Given the description of an element on the screen output the (x, y) to click on. 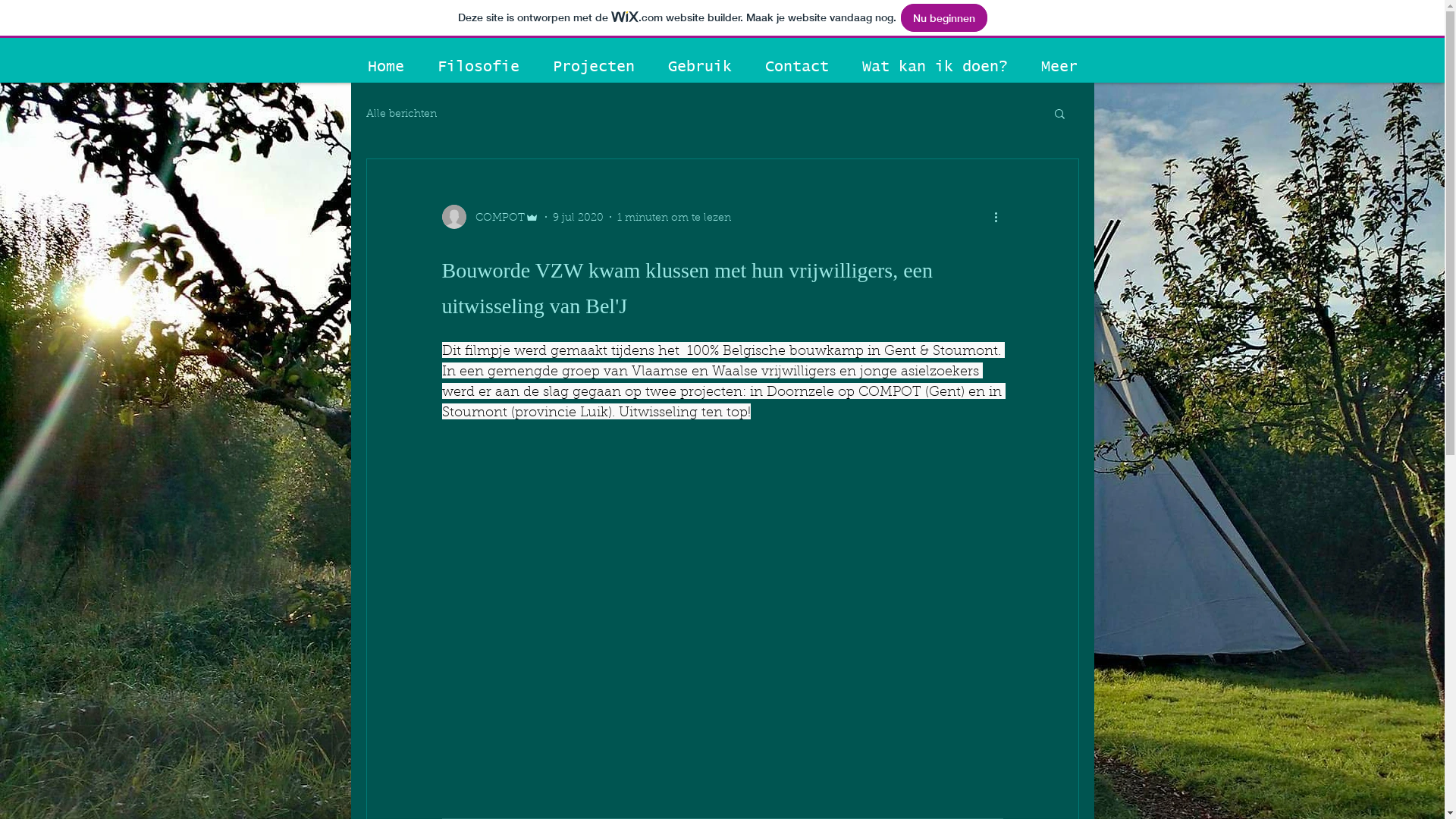
Projecten Element type: text (592, 66)
Home Element type: text (385, 66)
Alle berichten Element type: text (400, 112)
Wat kan ik doen? Element type: text (933, 66)
Gebruik Element type: text (698, 66)
COMPOT Element type: text (489, 216)
Filosofie Element type: text (477, 66)
Contact Element type: text (795, 66)
